Given the description of an element on the screen output the (x, y) to click on. 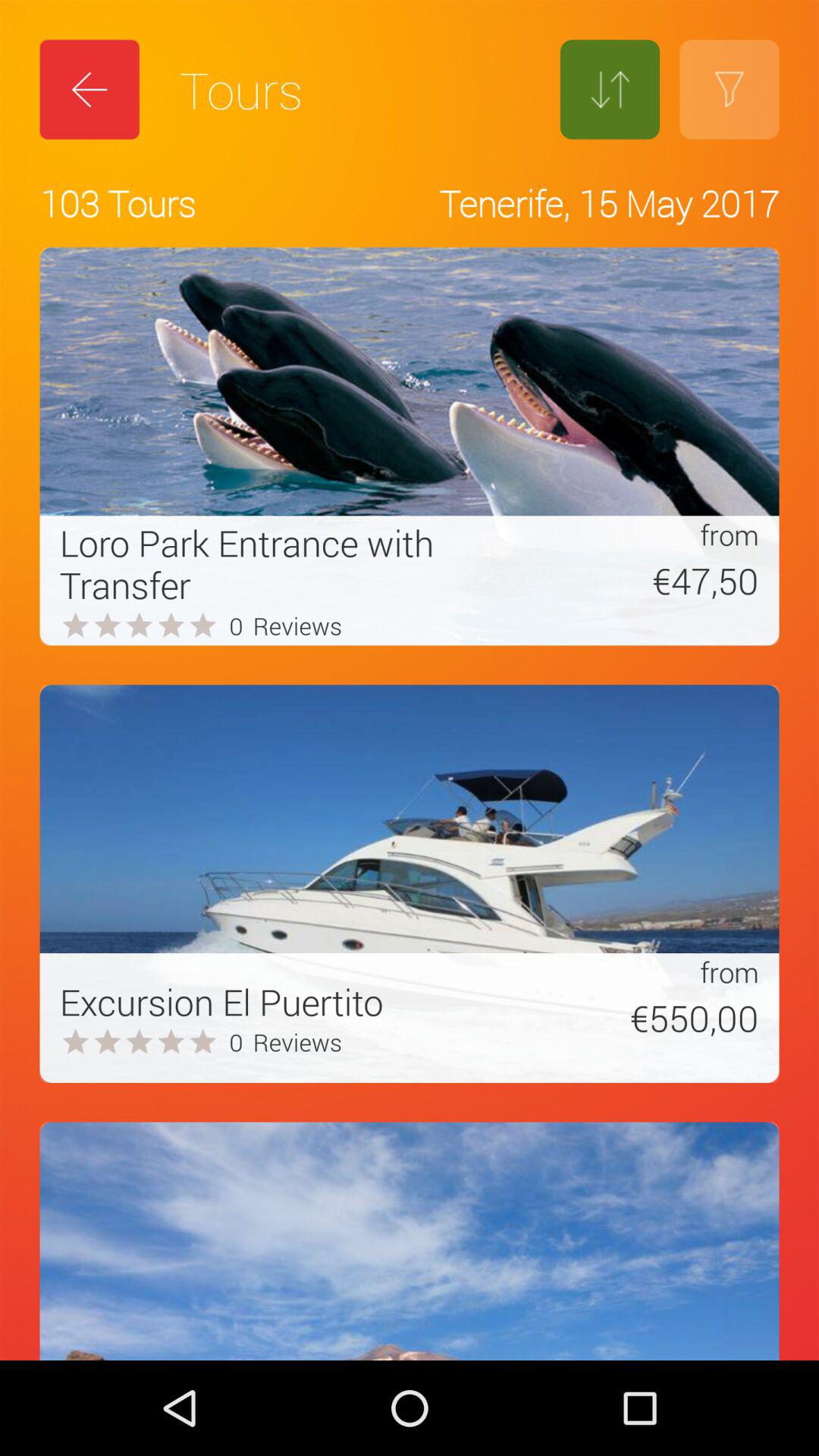
jump until loro park entrance icon (283, 563)
